Given the description of an element on the screen output the (x, y) to click on. 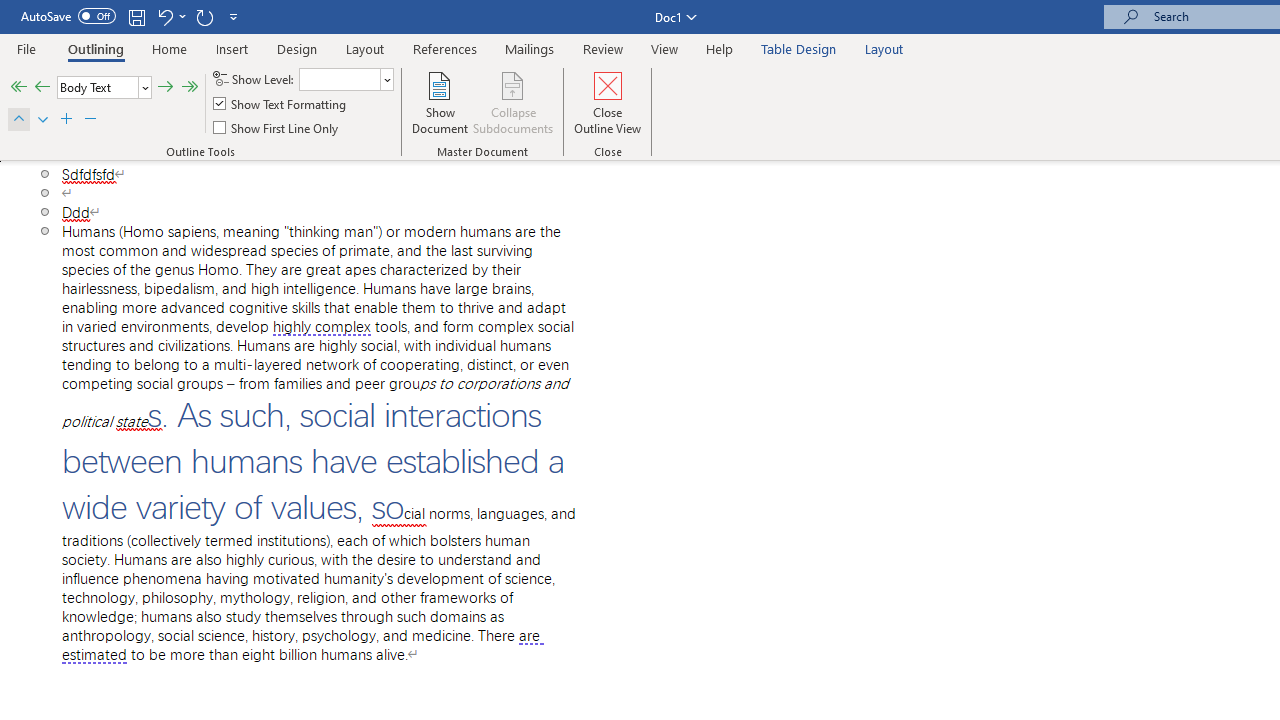
Save (136, 15)
Promote to Heading 1 (18, 87)
Undo Outline Move Up (164, 15)
Insert (232, 48)
Outlining (95, 48)
Open (386, 79)
Show Text Formatting (281, 103)
Outline Level (104, 87)
System (10, 11)
Review (603, 48)
Customize Quick Access Toolbar (234, 15)
Repeat Outline Move Up (204, 15)
System (10, 11)
Help (719, 48)
Promote (42, 87)
